Given the description of an element on the screen output the (x, y) to click on. 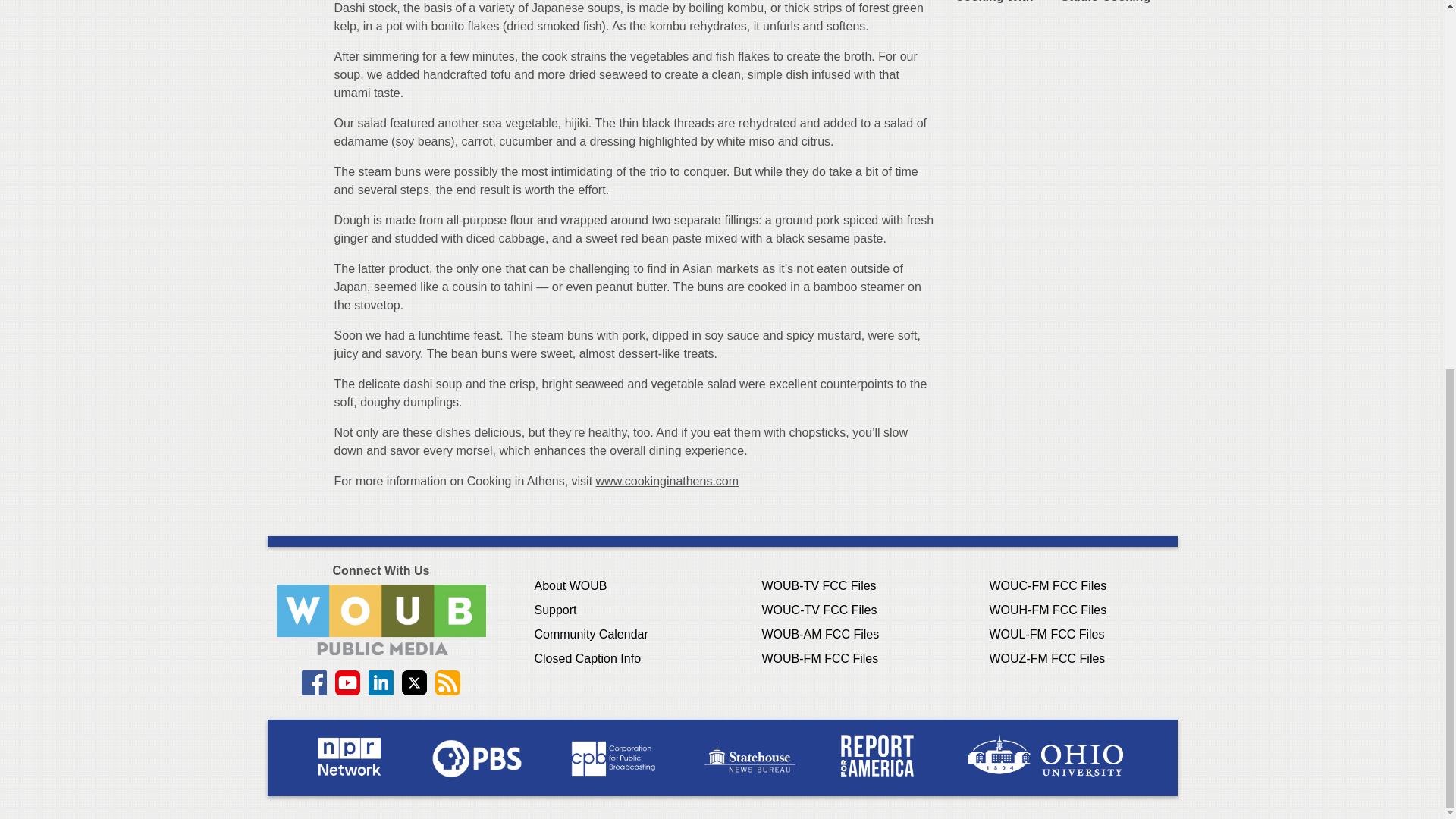
www.cookinginathens.com (667, 481)
Contact WOUB (380, 619)
New Culinary Studio Cooking Show in Jefferson Marketplace (1104, 1)
